Given the description of an element on the screen output the (x, y) to click on. 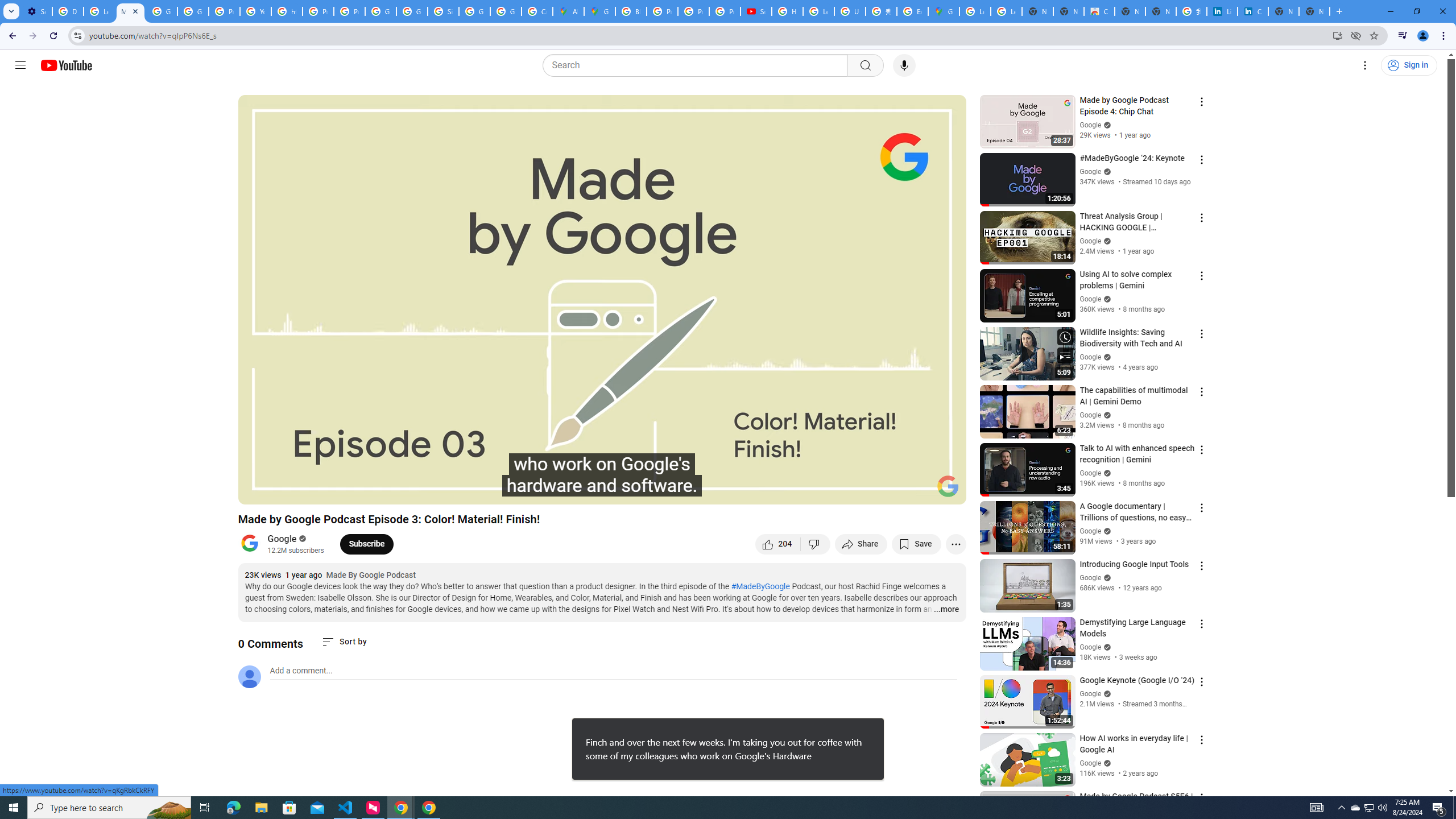
Privacy Help Center - Policies Help (662, 11)
Guide (20, 65)
Settings - Customize profile (36, 11)
YouTube Home (66, 65)
Theater mode (t) (917, 490)
Next (SHIFT+n) (284, 490)
